Given the description of an element on the screen output the (x, y) to click on. 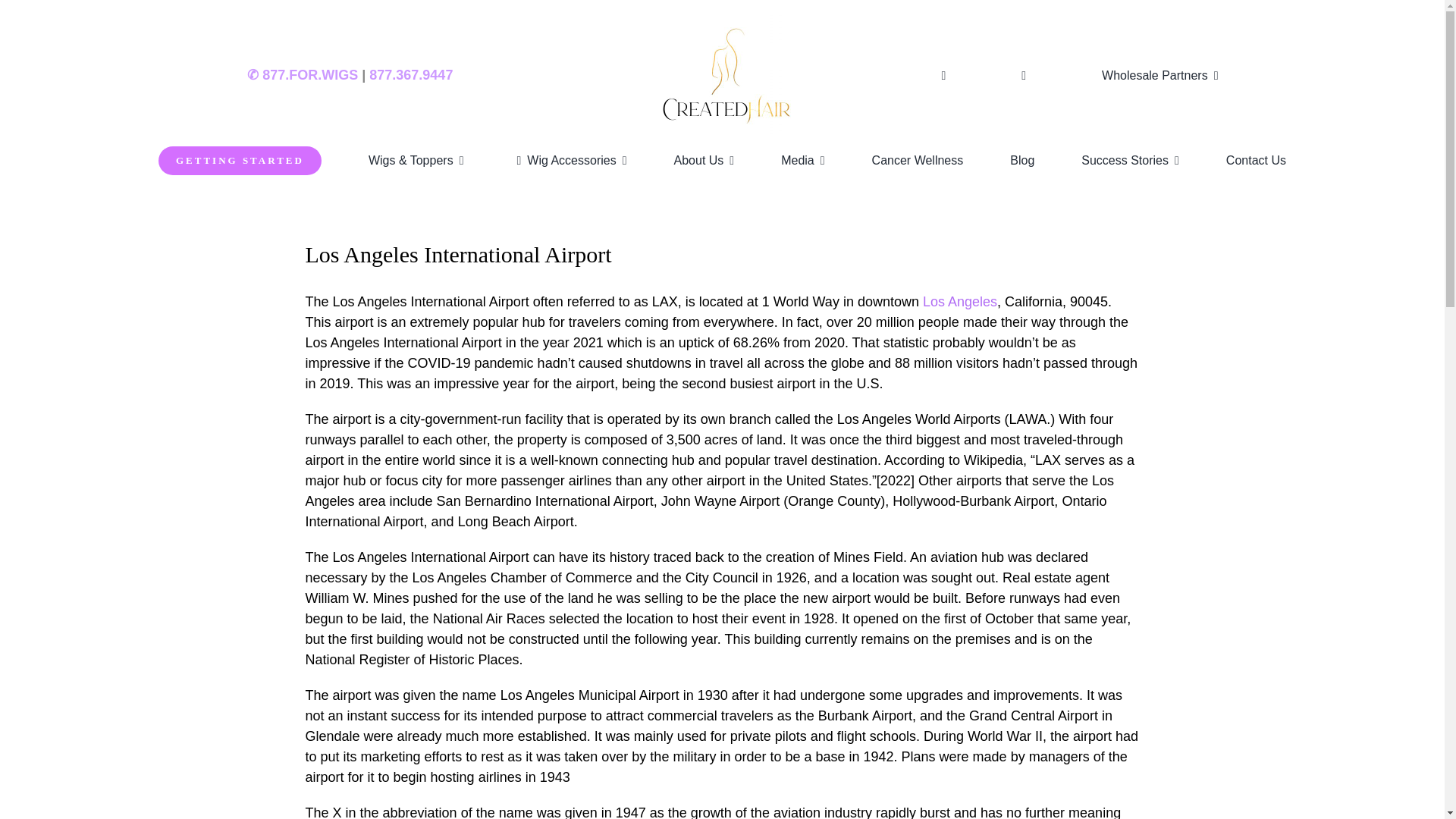
Wholesale Partners (1163, 75)
877.367.9447 (410, 74)
Wig Accessories (568, 160)
GETTING STARTED (239, 160)
About Us (704, 160)
